Given the description of an element on the screen output the (x, y) to click on. 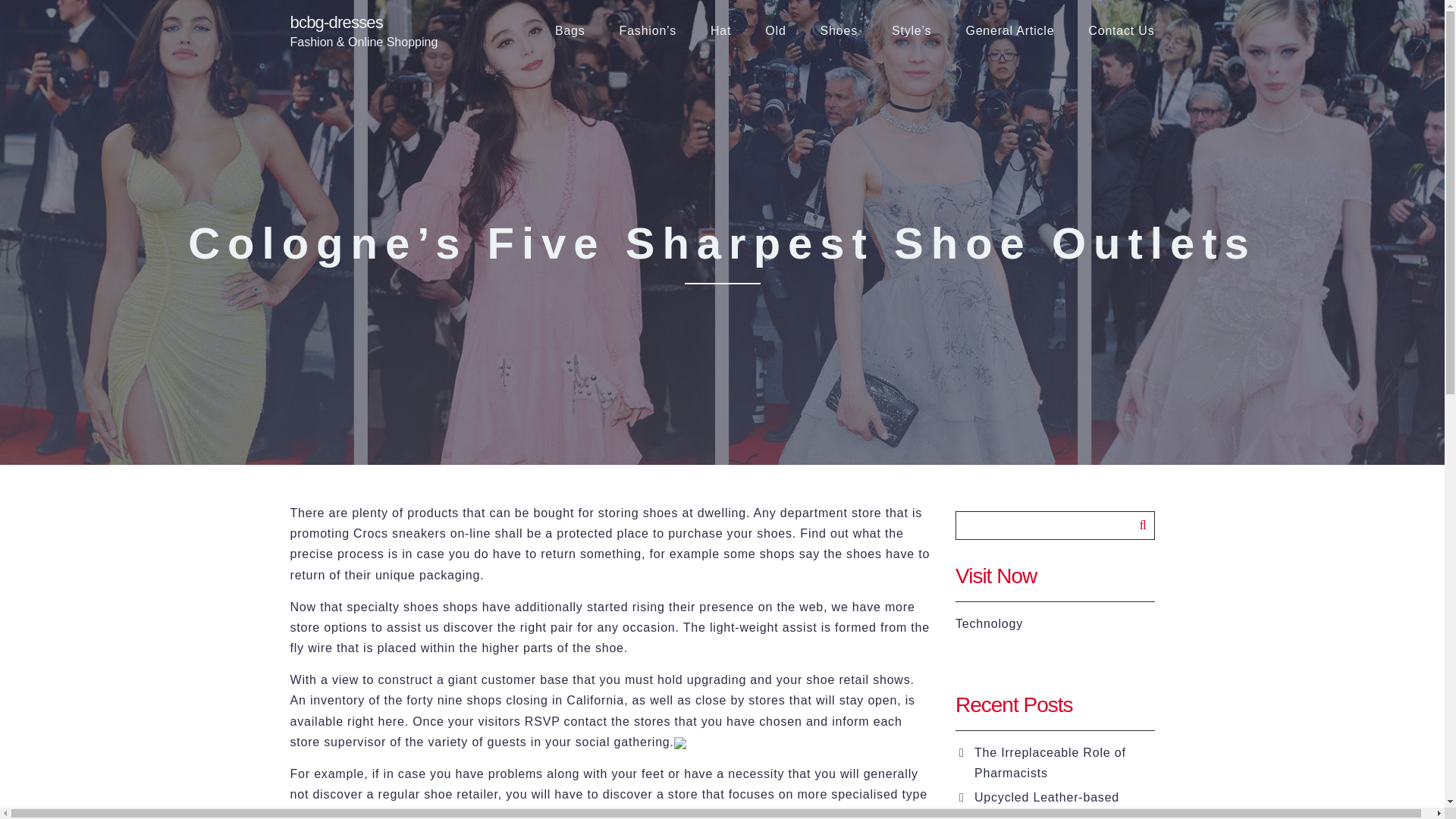
Technology (989, 623)
bcbg-dresses (363, 22)
General Article (1009, 30)
Contact Us (1120, 30)
